Given the description of an element on the screen output the (x, y) to click on. 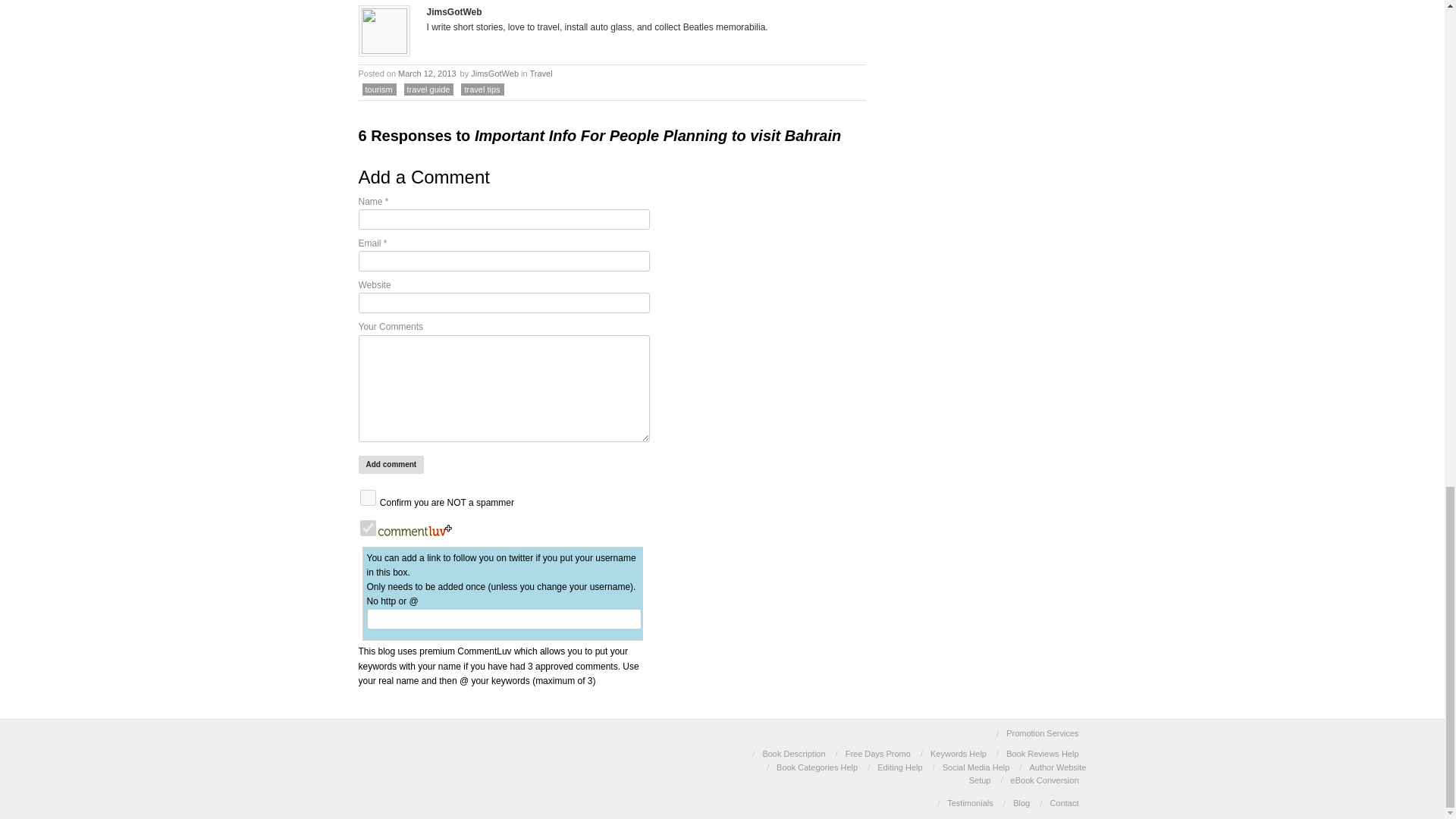
JimsGotWeb (494, 72)
Book Categories Help (816, 767)
eBook Conversion (1044, 779)
on (367, 497)
Editing Help (899, 767)
Keywords Help (958, 753)
March 12, 2013 (427, 72)
Add comment (390, 464)
Testimonials (970, 802)
Social Media Help (975, 767)
Promotion Services (1042, 732)
View all posts by JimsGotWeb (494, 72)
Add comment (390, 464)
Free Days Promo (878, 753)
CommentLuv is enabled (414, 532)
